Given the description of an element on the screen output the (x, y) to click on. 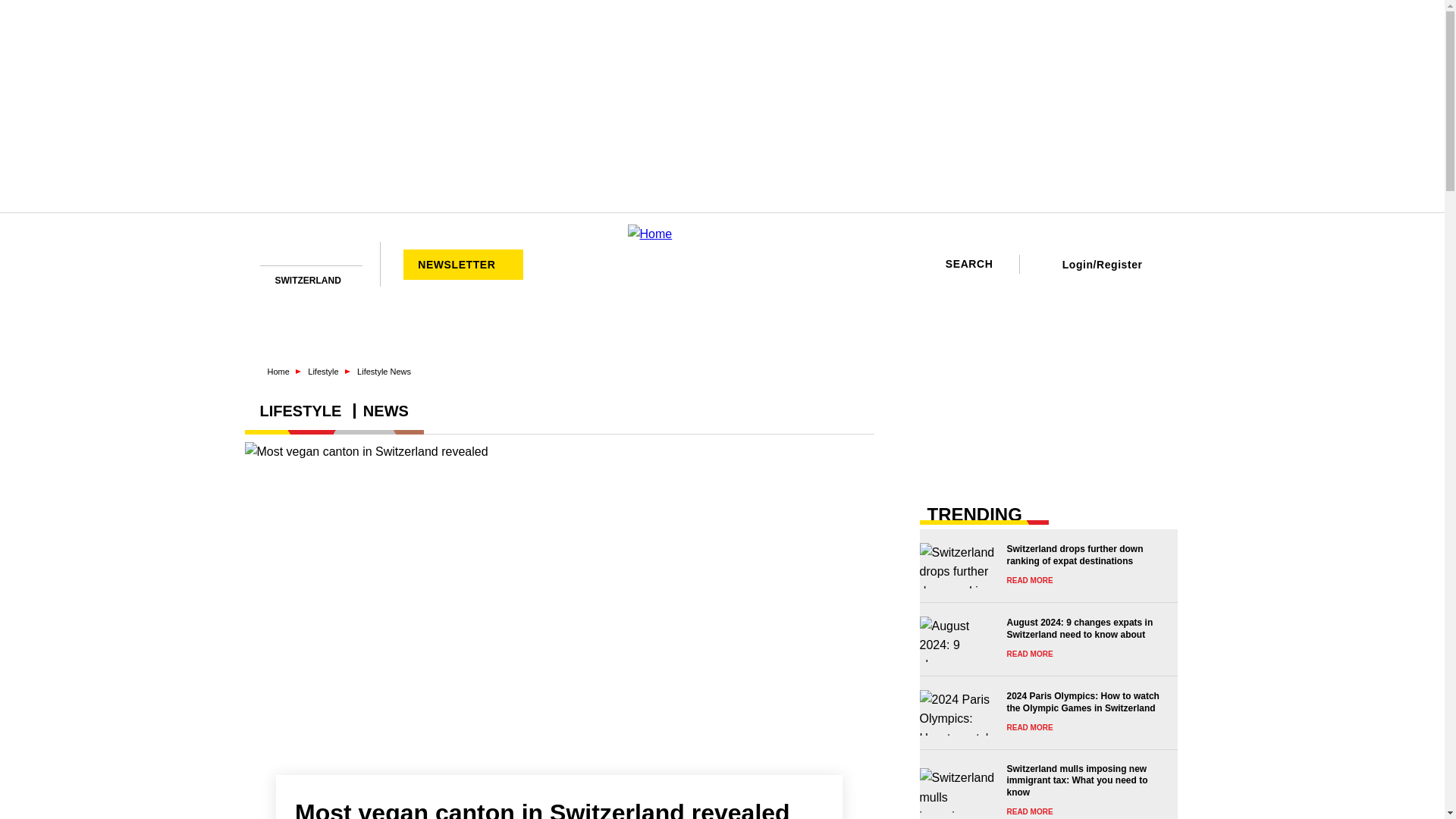
Twitter (307, 251)
NEWSLETTER (462, 263)
Home (721, 263)
NEWSLETTER (462, 263)
Facebook (265, 251)
SWITZERLAND (313, 280)
Linkedin (287, 251)
Switzerland drops further down ranking of expat destinations (1043, 565)
Newsletter (329, 251)
